Given the description of an element on the screen output the (x, y) to click on. 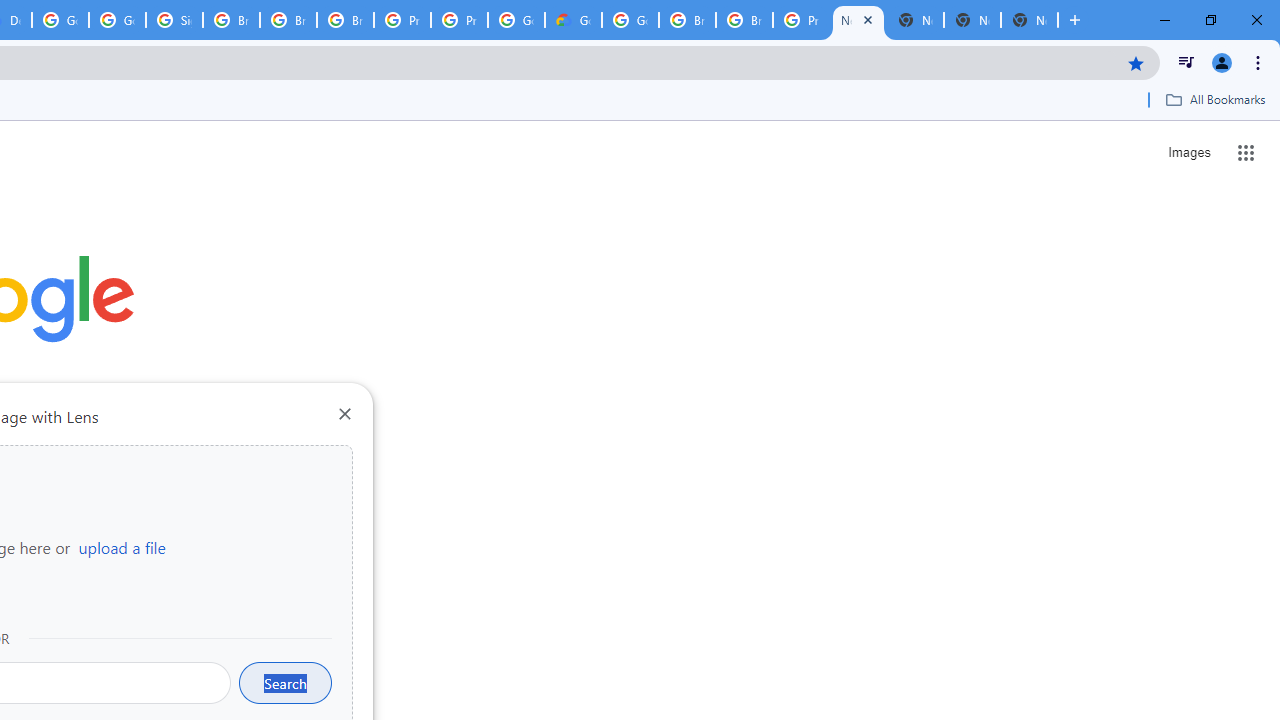
Google Cloud Platform (630, 20)
upload a file (122, 547)
Google Cloud Platform (60, 20)
Sign in - Google Accounts (174, 20)
Browse Chrome as a guest - Computer - Google Chrome Help (288, 20)
